Given the description of an element on the screen output the (x, y) to click on. 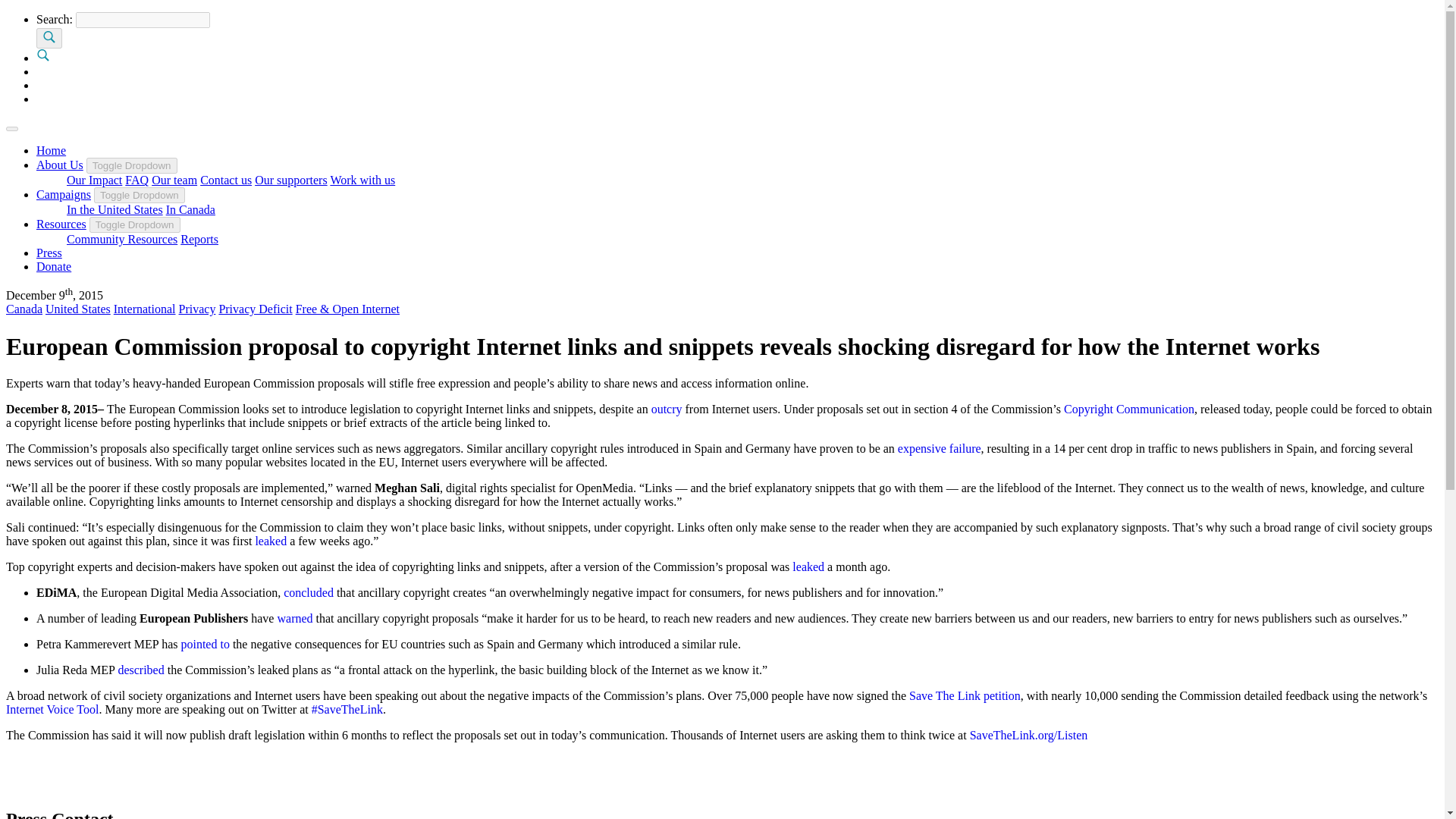
concluded (308, 592)
Donate (53, 266)
Privacy (197, 308)
In Canada (190, 209)
About Us (59, 164)
outcry (666, 408)
Toggle Dropdown (139, 195)
FAQ (136, 179)
Community Resources (121, 238)
leaked (808, 566)
Copyright Communication (1128, 408)
Work with us (362, 179)
Toggle Dropdown (131, 165)
Home (50, 150)
Our team (173, 179)
